Given the description of an element on the screen output the (x, y) to click on. 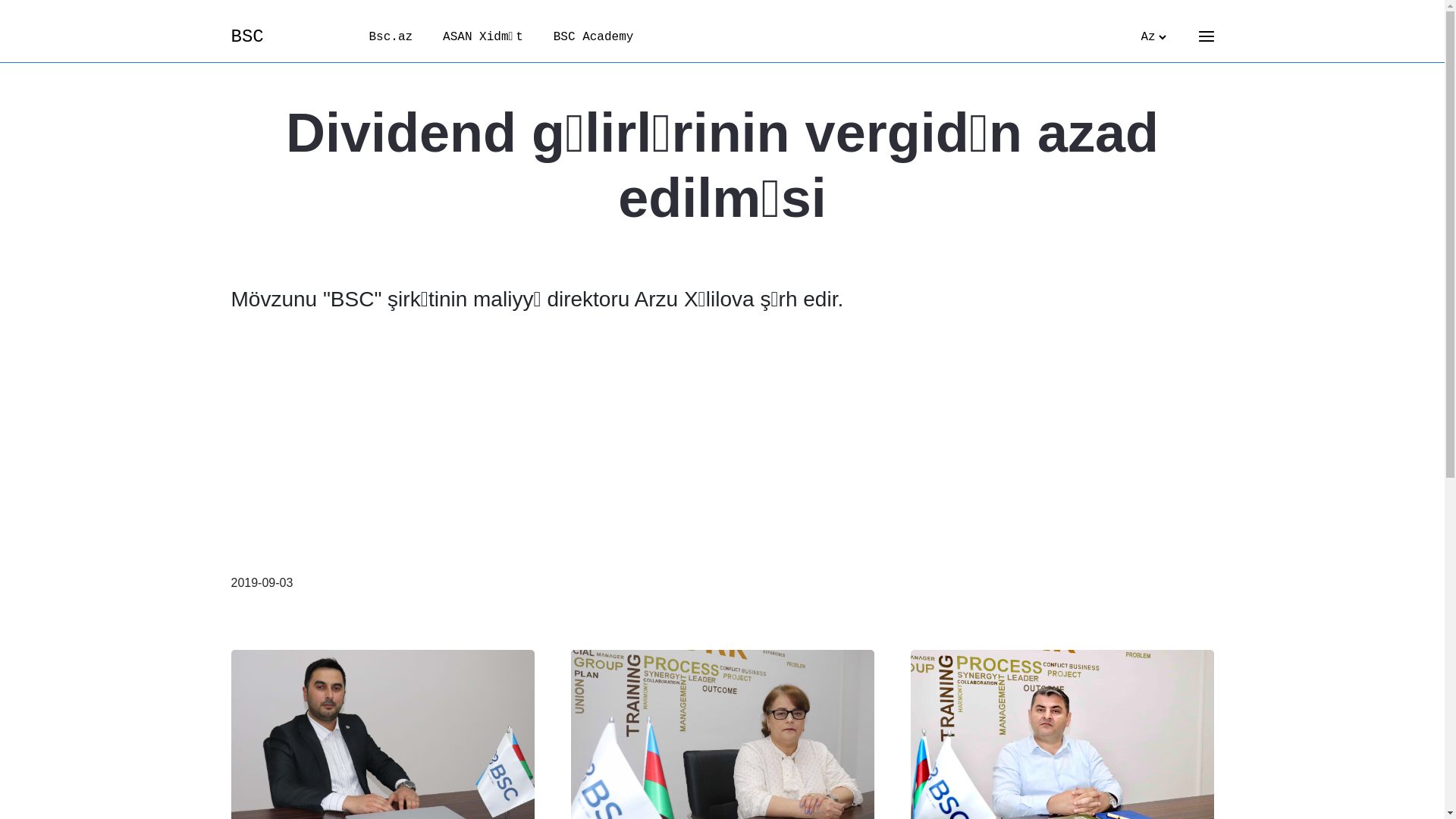
BSC Element type: text (246, 36)
BSC Academy Element type: text (593, 36)
Bsc.az Element type: text (390, 36)
